Given the description of an element on the screen output the (x, y) to click on. 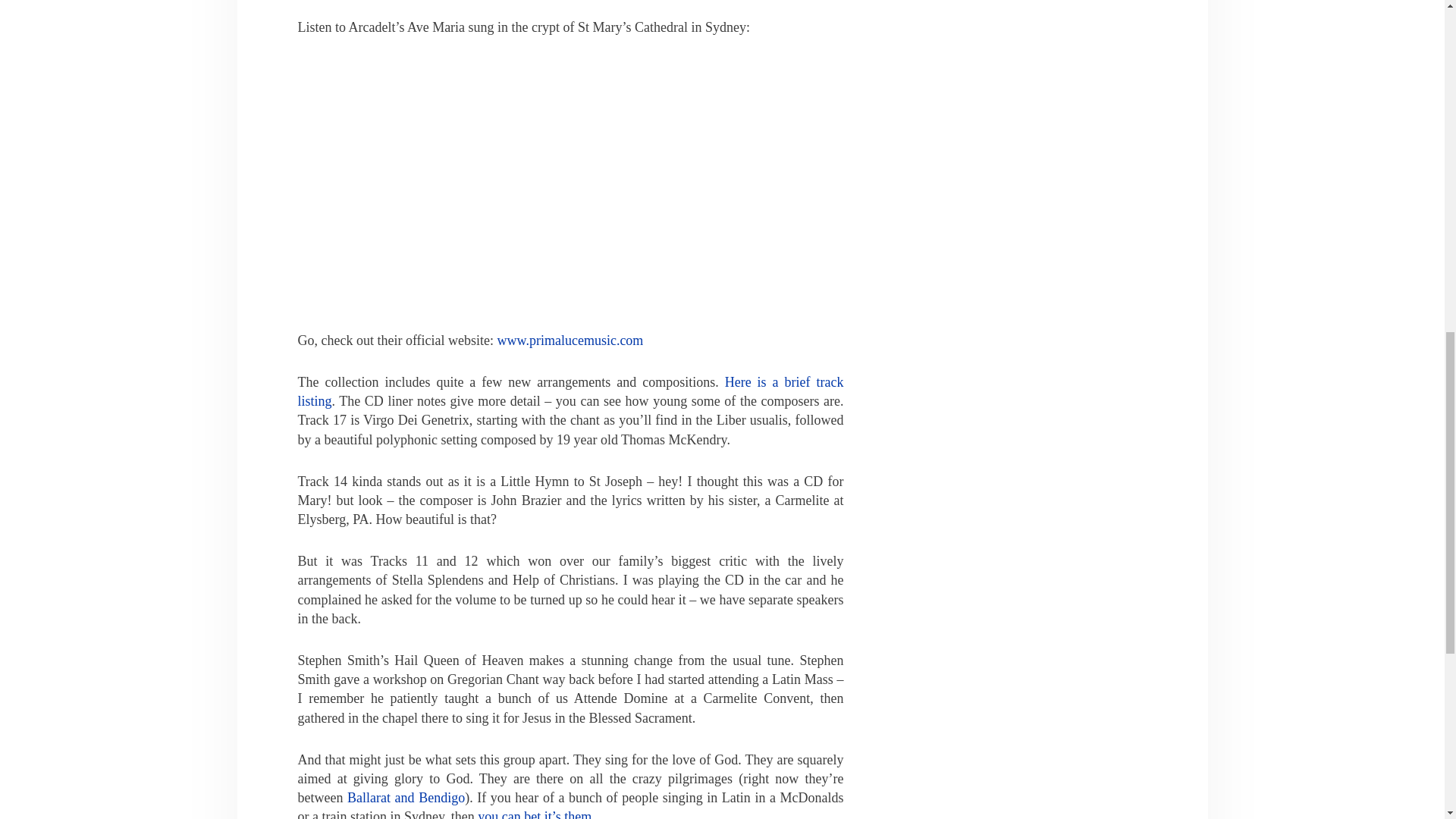
Ballarat and Bendigo (405, 797)
www.primalucemusic.com (570, 340)
Here is a brief track listing (570, 391)
